Given the description of an element on the screen output the (x, y) to click on. 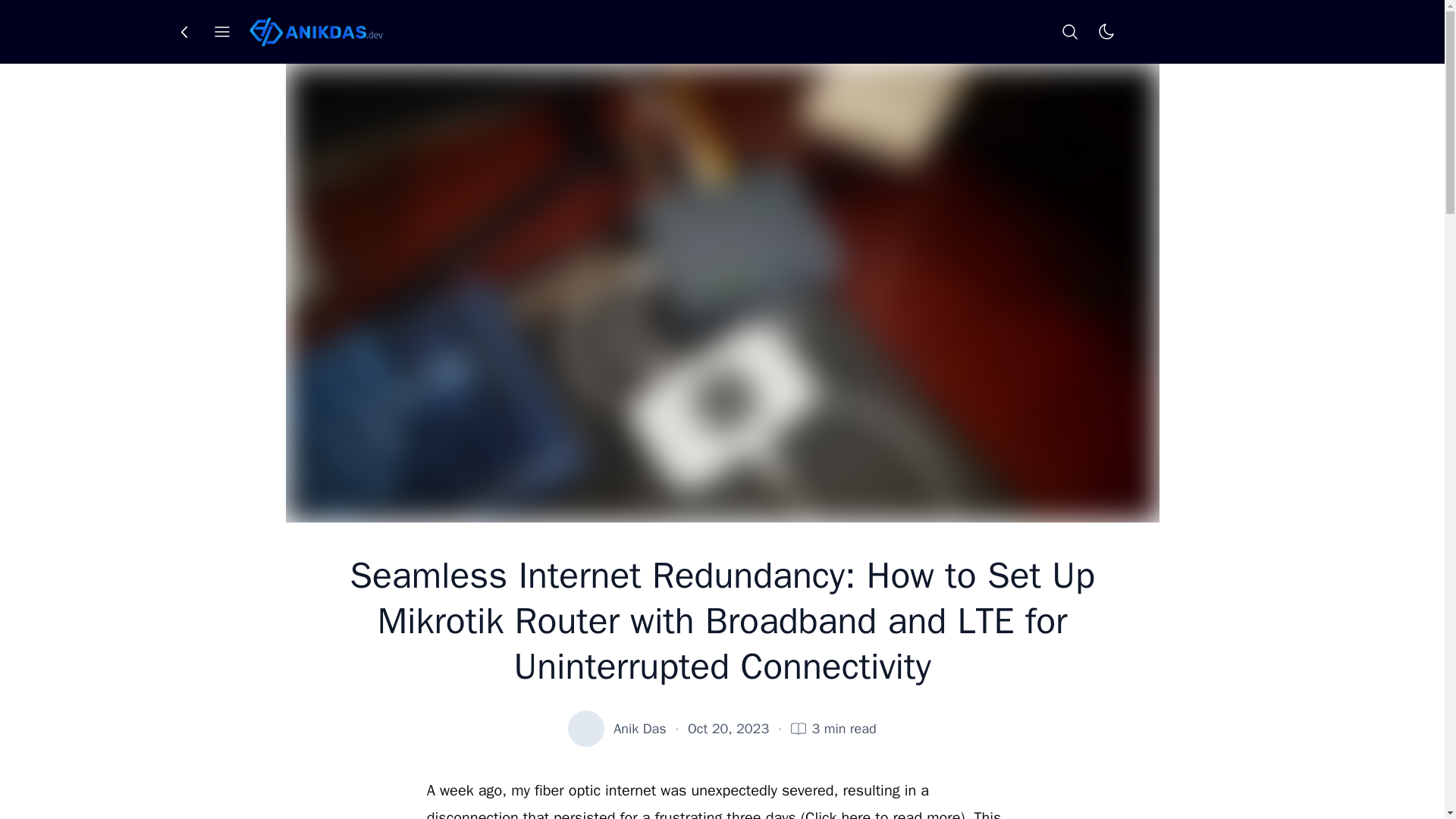
Oct 20, 2023 (727, 728)
Anik Das (638, 728)
Click here to read more (882, 813)
